Given the description of an element on the screen output the (x, y) to click on. 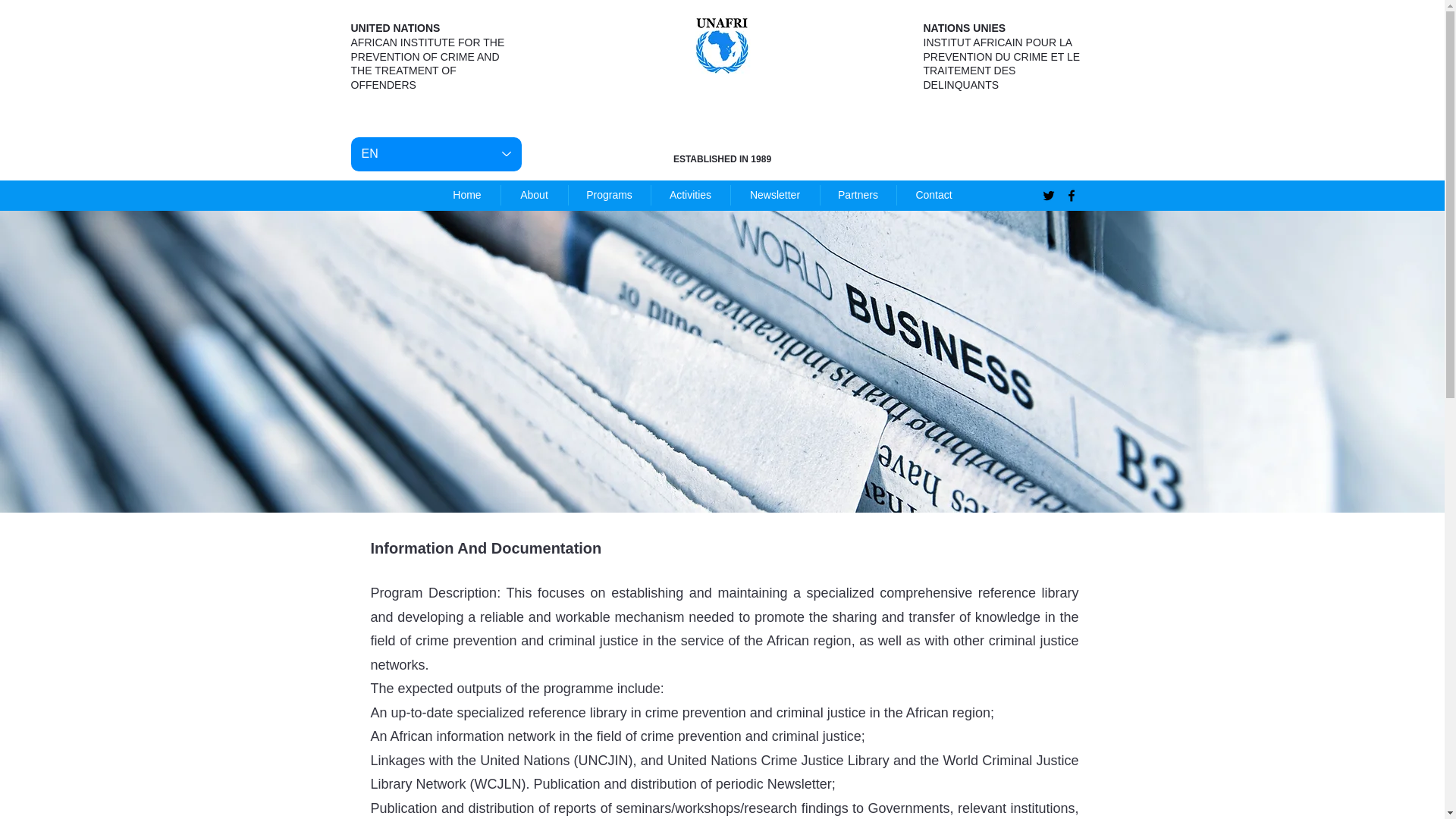
Newsletter (774, 195)
Home (466, 195)
Contact (933, 195)
Programs (609, 195)
Partners (858, 195)
About (533, 195)
Activities (689, 195)
